Given the description of an element on the screen output the (x, y) to click on. 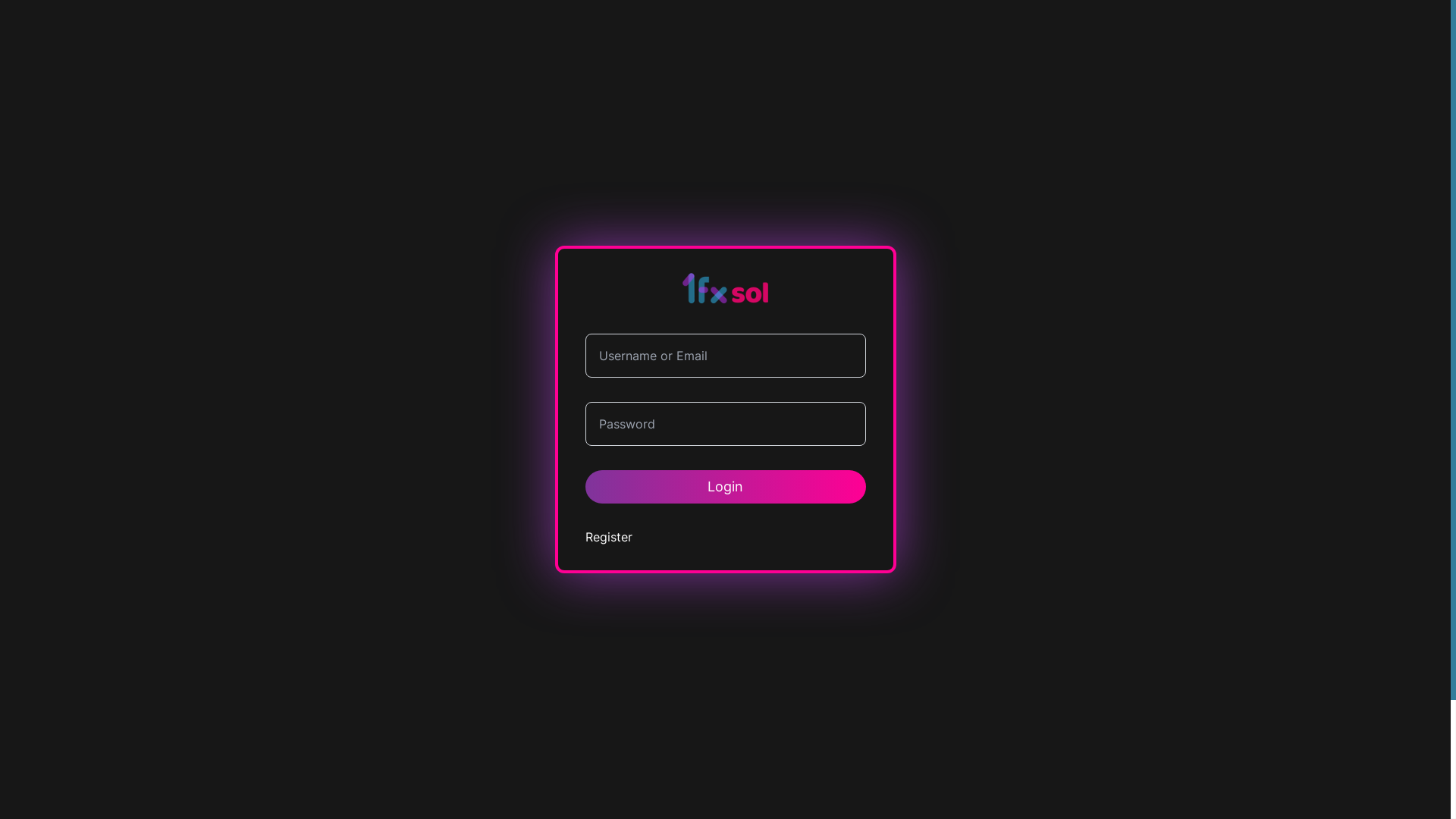
Login Element type: text (725, 486)
Register Element type: text (608, 536)
